Given the description of an element on the screen output the (x, y) to click on. 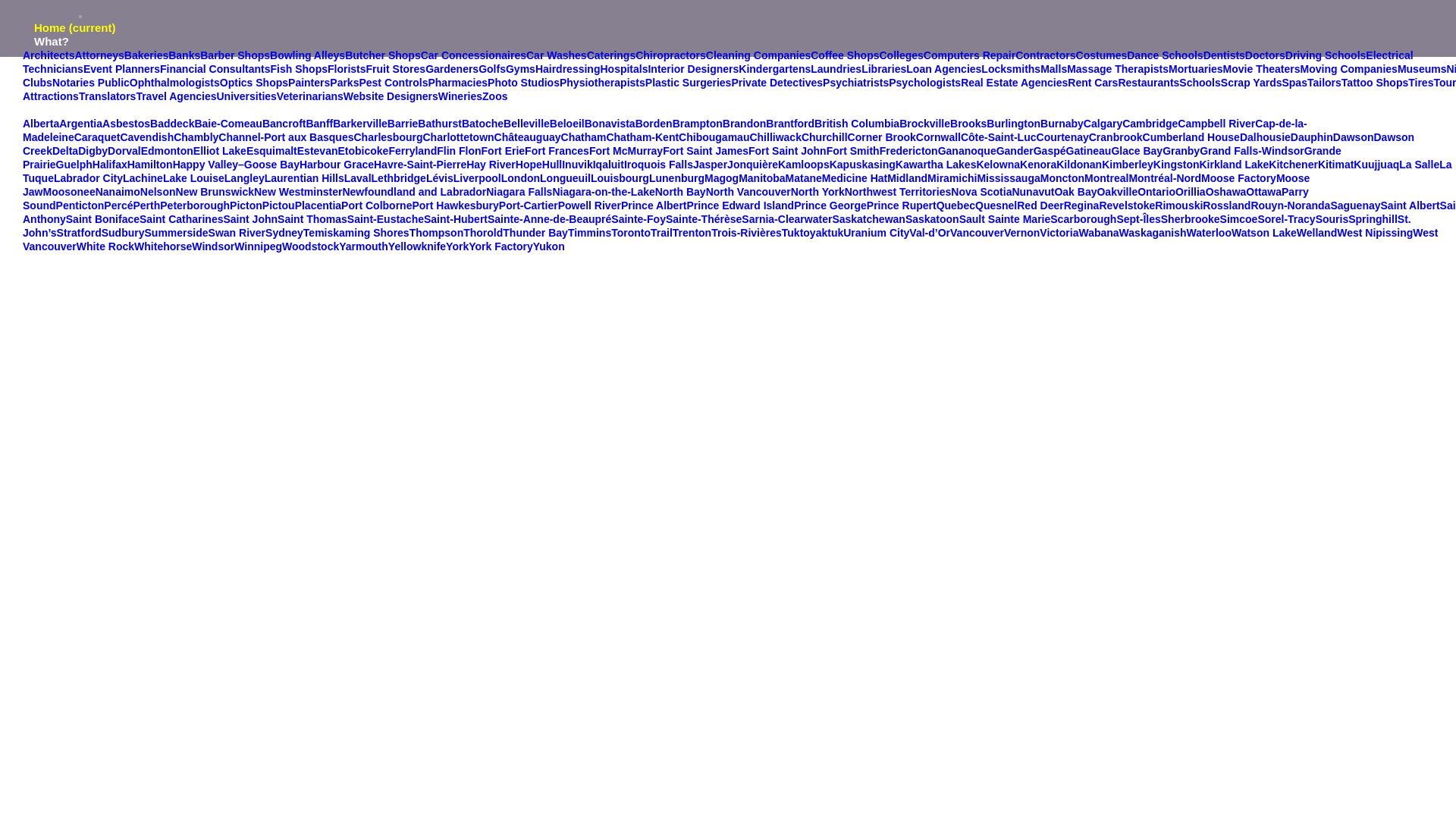
Attorneys (98, 55)
Banks (184, 55)
Gardeners (452, 69)
Contractors (1044, 55)
Electrical Technicians (718, 62)
Colleges (901, 55)
Car Concessionaires (472, 55)
Computers Repair (968, 55)
Financial Consultants (214, 69)
Laundries (835, 69)
